Given the description of an element on the screen output the (x, y) to click on. 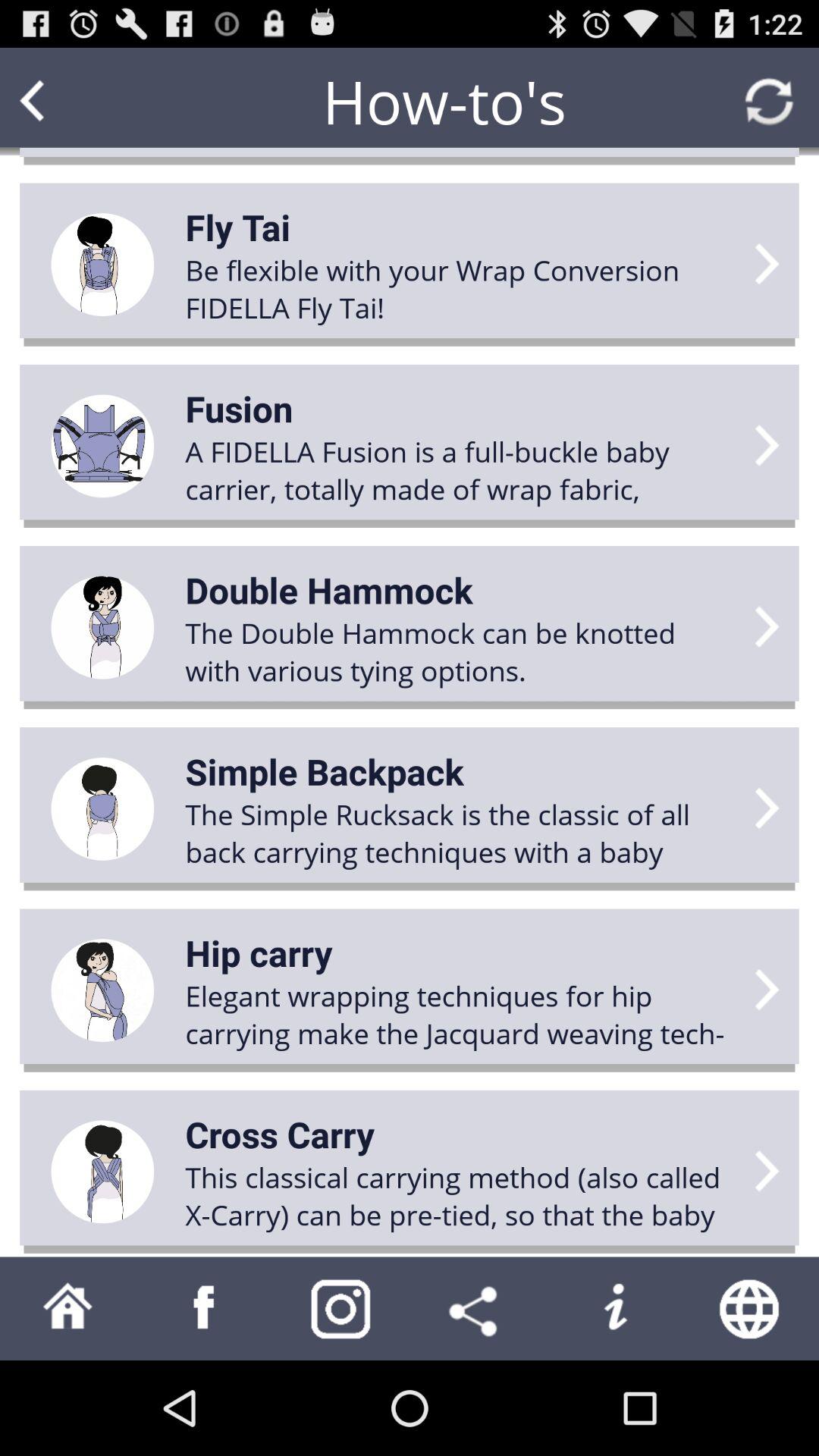
go to facebook (204, 1308)
